Given the description of an element on the screen output the (x, y) to click on. 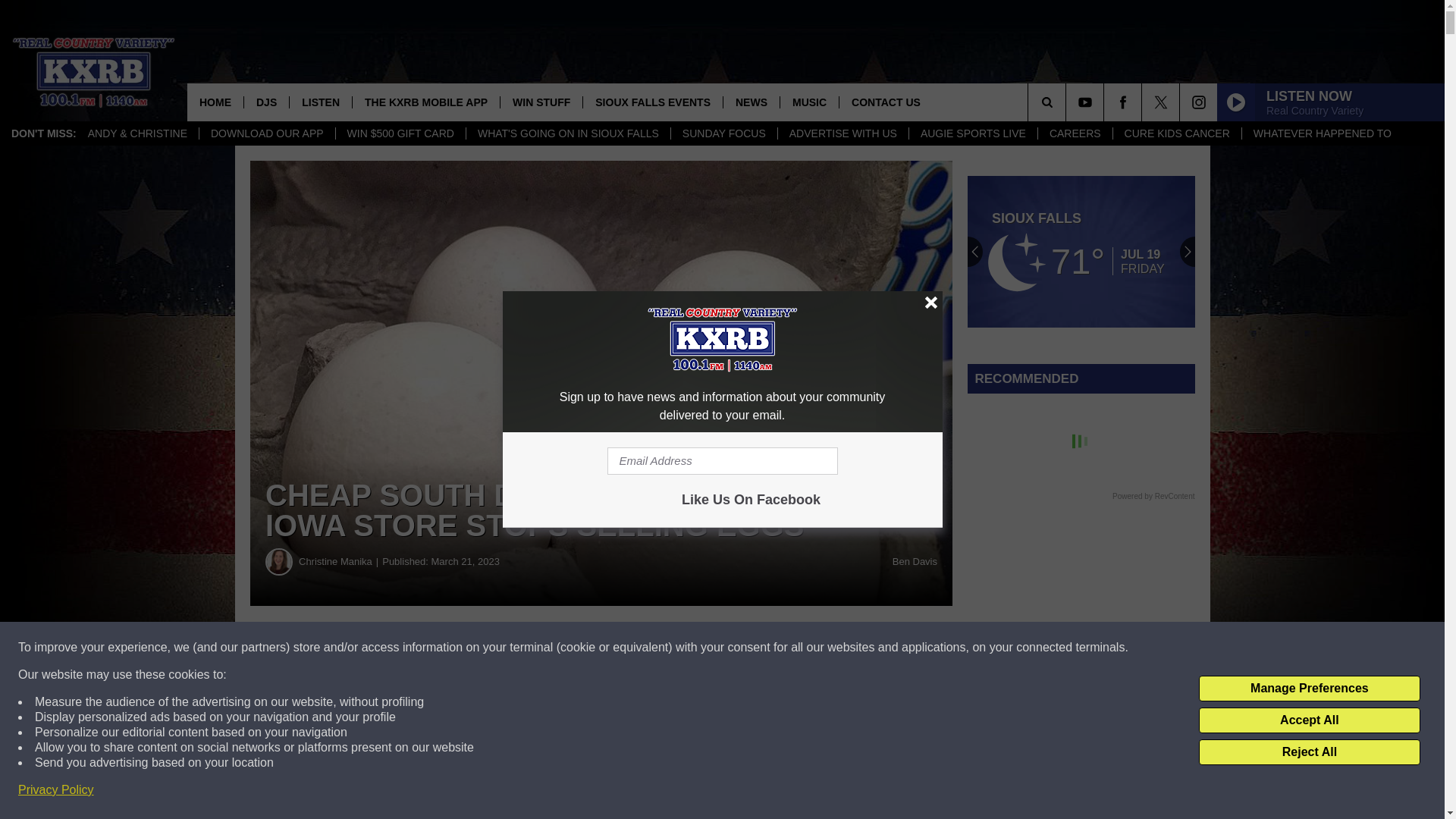
LISTEN (320, 102)
ADVERTISE WITH US (842, 133)
AUGIE SPORTS LIVE (972, 133)
Manage Preferences (1309, 688)
Accept All (1309, 720)
SEARCH (1068, 102)
HOME (215, 102)
Share on Twitter (741, 647)
CAREERS (1074, 133)
WHAT'S GOING ON IN SIOUX FALLS (567, 133)
WHATEVER HAPPENED TO (1322, 133)
SUNDAY FOCUS (723, 133)
Sioux Falls Weather (1081, 251)
Email Address (722, 461)
DOWNLOAD OUR APP (266, 133)
